Given the description of an element on the screen output the (x, y) to click on. 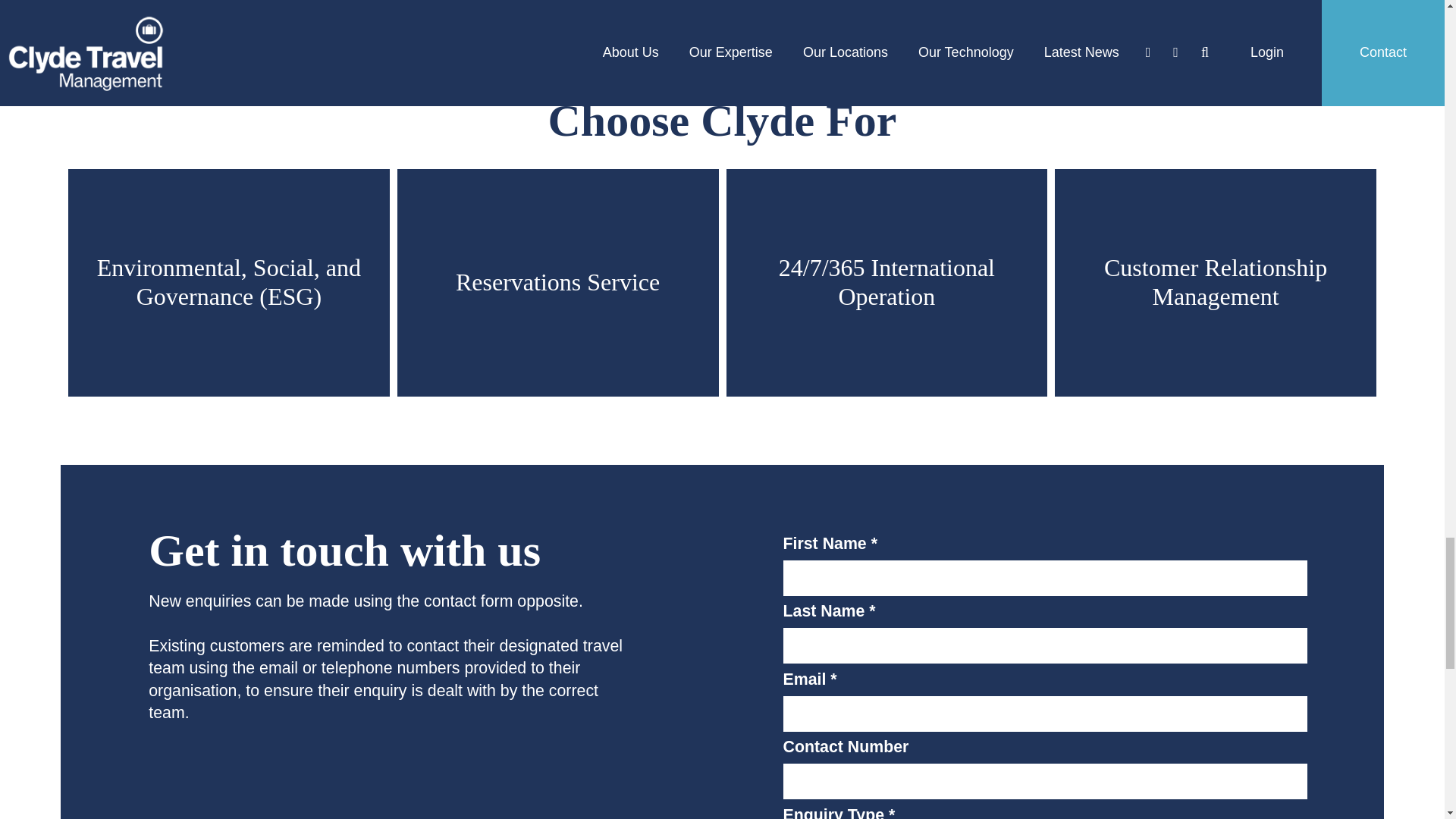
Find Your Local Office (721, 17)
Reservations Service (558, 282)
Customer Relationship Management (1214, 282)
